Given the description of an element on the screen output the (x, y) to click on. 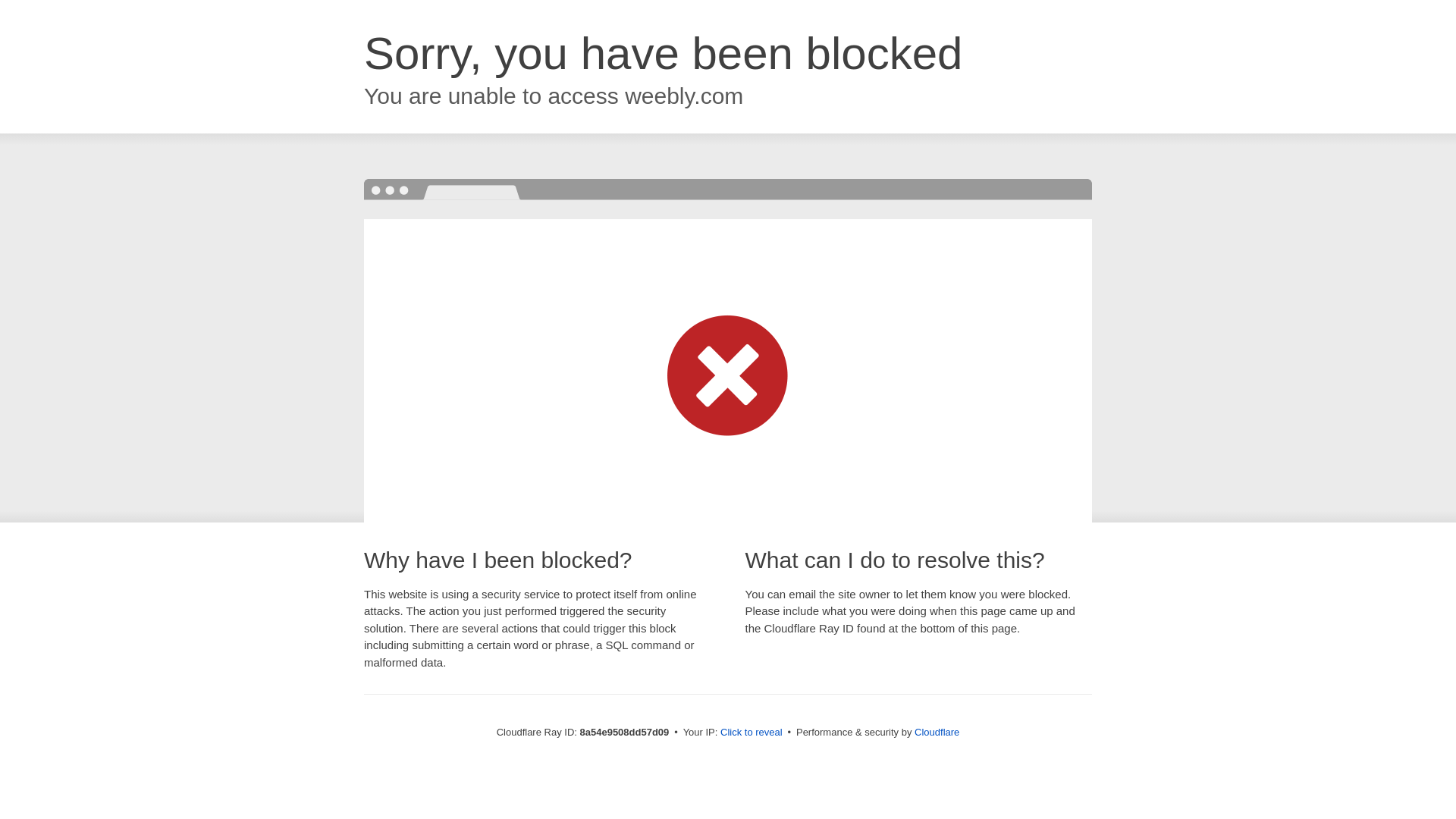
Click to reveal (751, 732)
Cloudflare (936, 731)
